Given the description of an element on the screen output the (x, y) to click on. 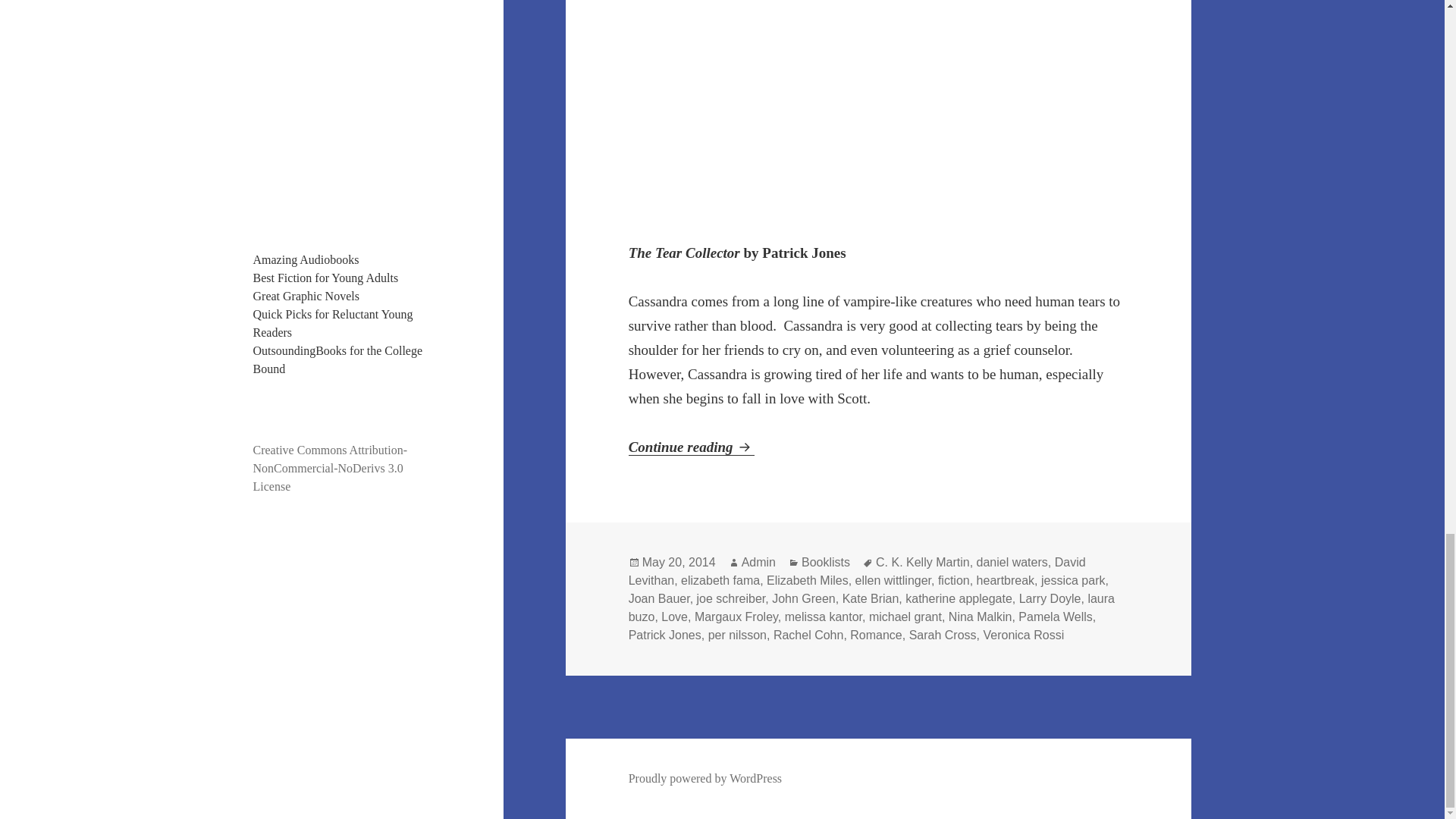
Quick Picks for Reluctant Young Readers (333, 323)
Amazing Audiobooks (306, 259)
Great Graphic Novels (306, 295)
OutsoundingBooks for the College Bound (338, 359)
Best Fiction for Young Adults (325, 277)
